Given the description of an element on the screen output the (x, y) to click on. 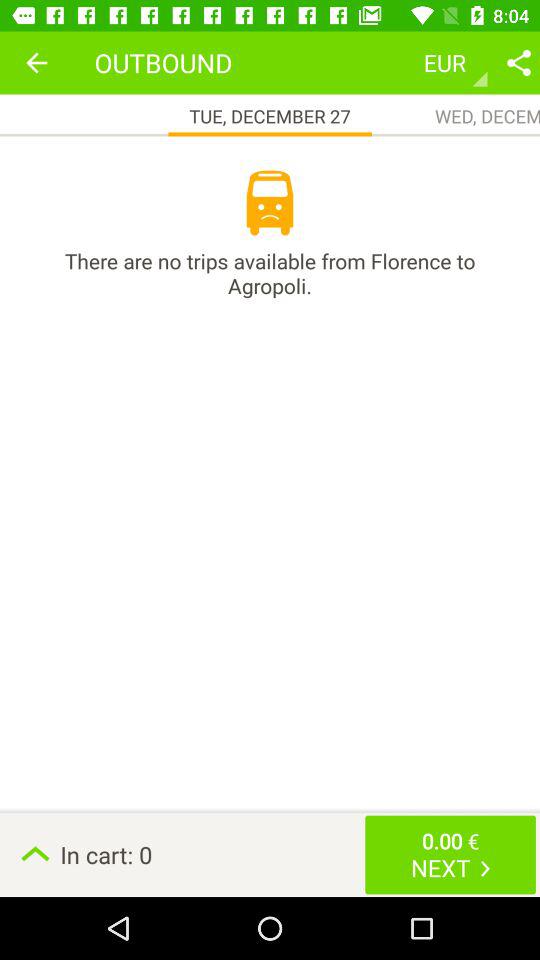
launch the icon to the left of the outbound icon (36, 62)
